Given the description of an element on the screen output the (x, y) to click on. 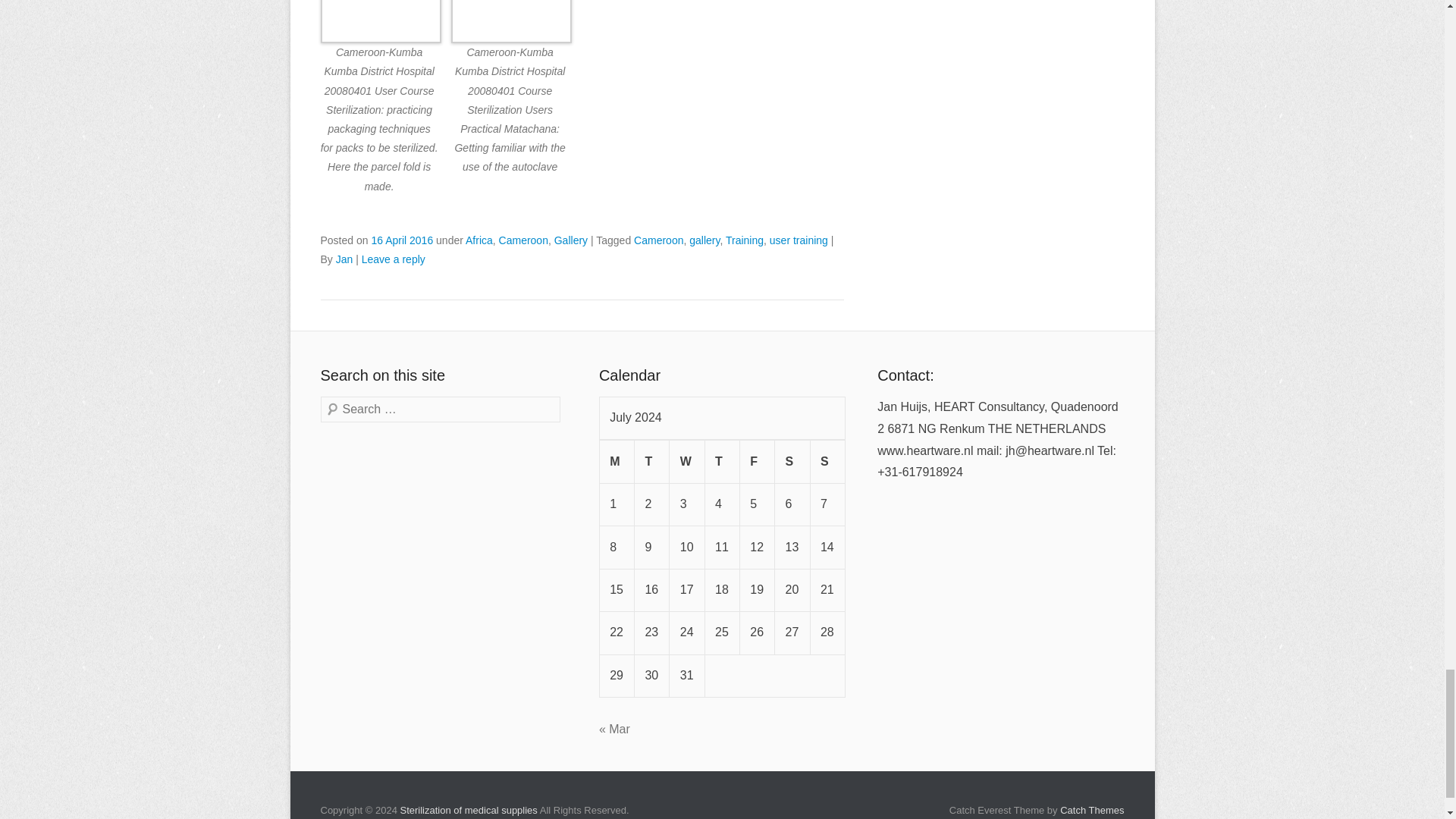
13:50 (401, 240)
View all posts by Jan (344, 259)
